Given the description of an element on the screen output the (x, y) to click on. 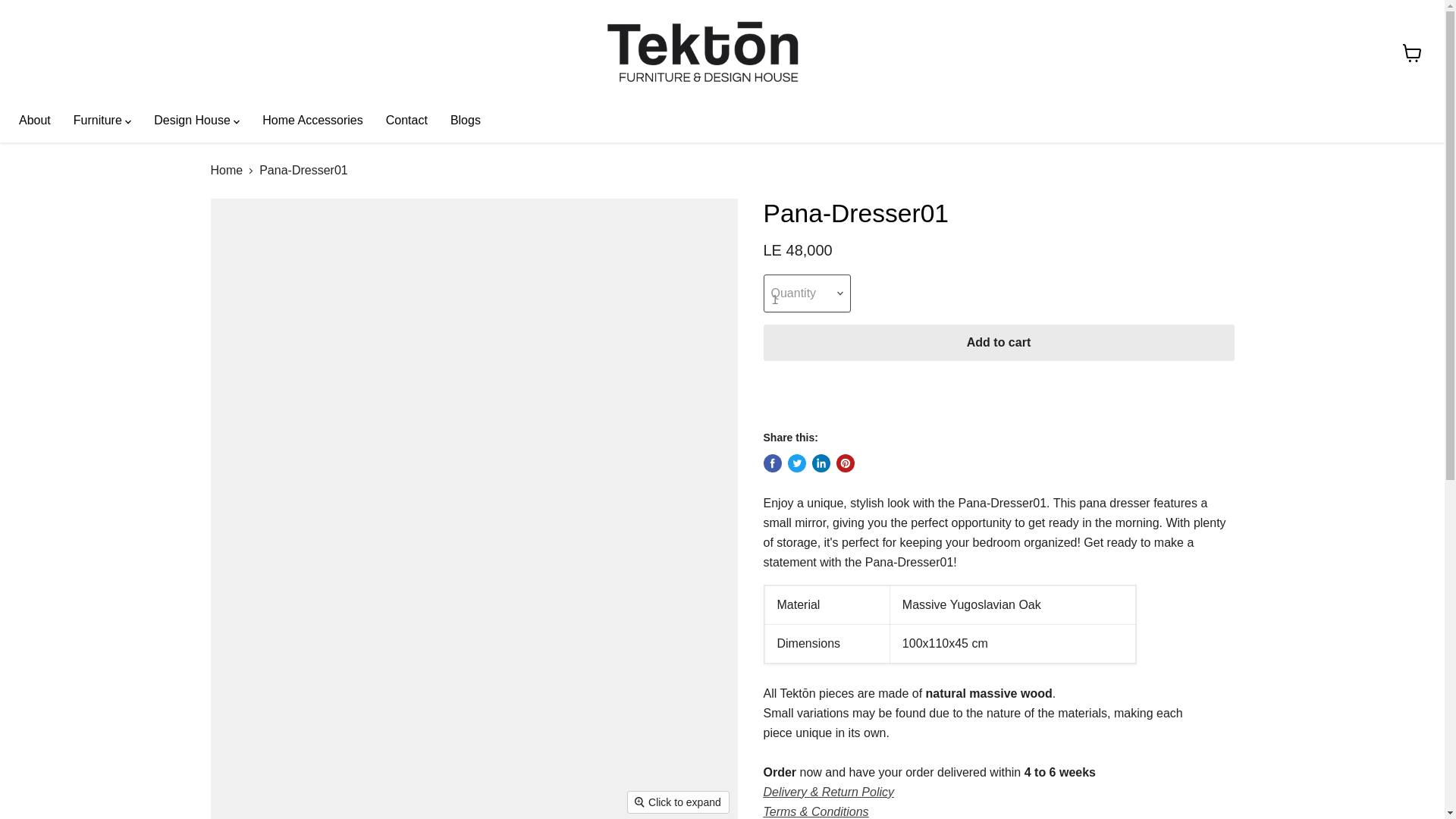
Design House (196, 120)
View cart (1411, 52)
Furniture (102, 120)
About (34, 120)
Blogs (465, 120)
Home Accessories (312, 120)
Contact (406, 120)
